Given the description of an element on the screen output the (x, y) to click on. 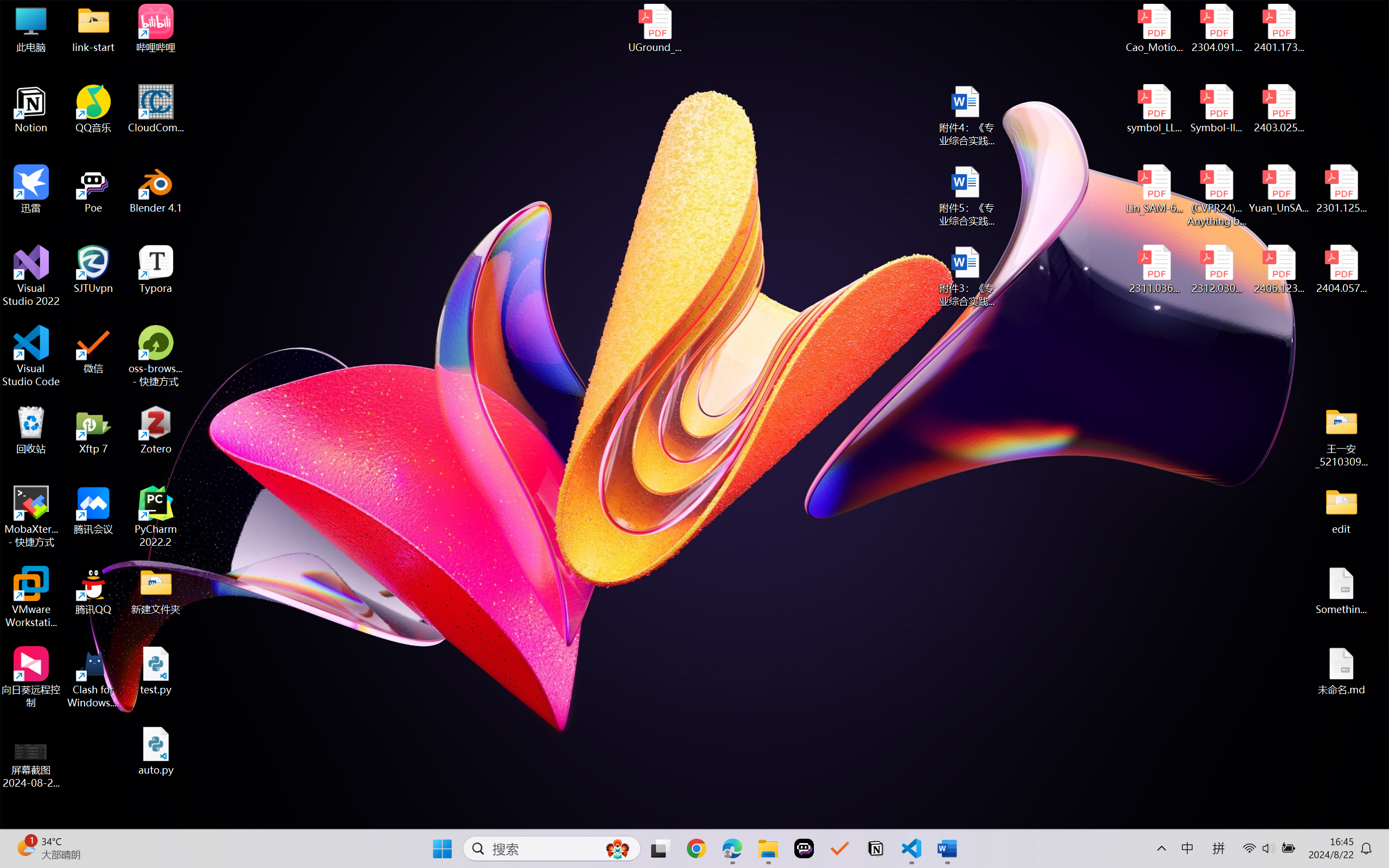
SJTUvpn (93, 269)
PyCharm 2022.2 (156, 516)
Something.md (1340, 591)
Xftp 7 (93, 430)
2401.17399v1.pdf (1278, 28)
Symbol-llm-v2.pdf (1216, 109)
2312.03032v2.pdf (1216, 269)
